Given the description of an element on the screen output the (x, y) to click on. 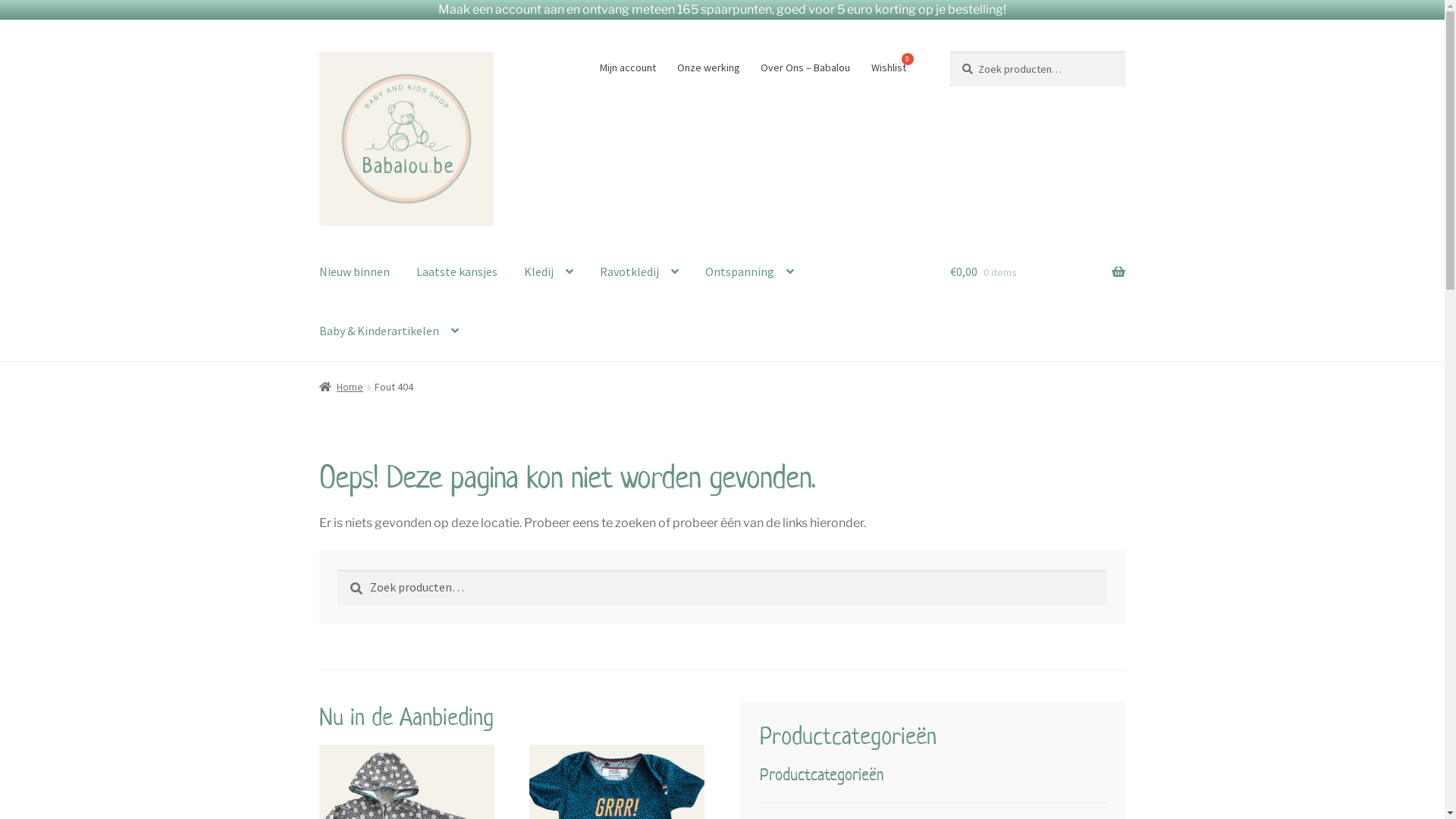
Baby & Kinderartikelen Element type: text (388, 330)
Nieuw binnen Element type: text (354, 272)
Home Element type: text (341, 386)
Onze werking Element type: text (708, 67)
Laatste kansjes Element type: text (456, 272)
Mijn account Element type: text (627, 67)
Zoeken Element type: text (949, 50)
Ravotkledij Element type: text (638, 272)
Wishlist Element type: text (888, 67)
Kledij Element type: text (548, 272)
Ontspanning Element type: text (749, 272)
Zoeken Element type: text (337, 569)
Ga door naar navigatie Element type: text (318, 50)
